Given the description of an element on the screen output the (x, y) to click on. 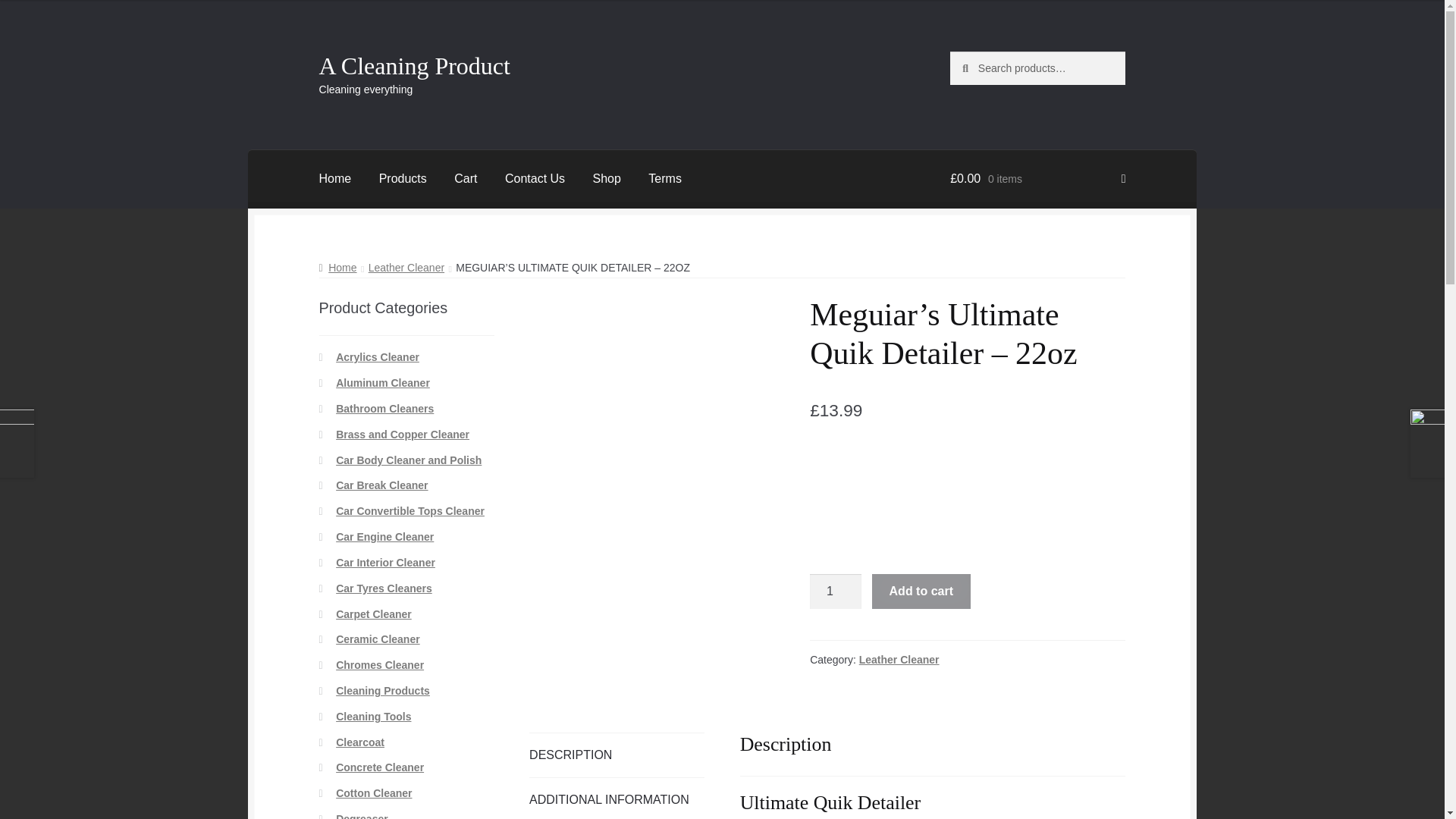
Leather Cleaner (406, 267)
DESCRIPTION (616, 755)
Products (402, 178)
Home (337, 267)
View your shopping cart (1037, 178)
ADDITIONAL INFORMATION (616, 798)
Terms (665, 178)
A Cleaning Product (414, 65)
